Given the description of an element on the screen output the (x, y) to click on. 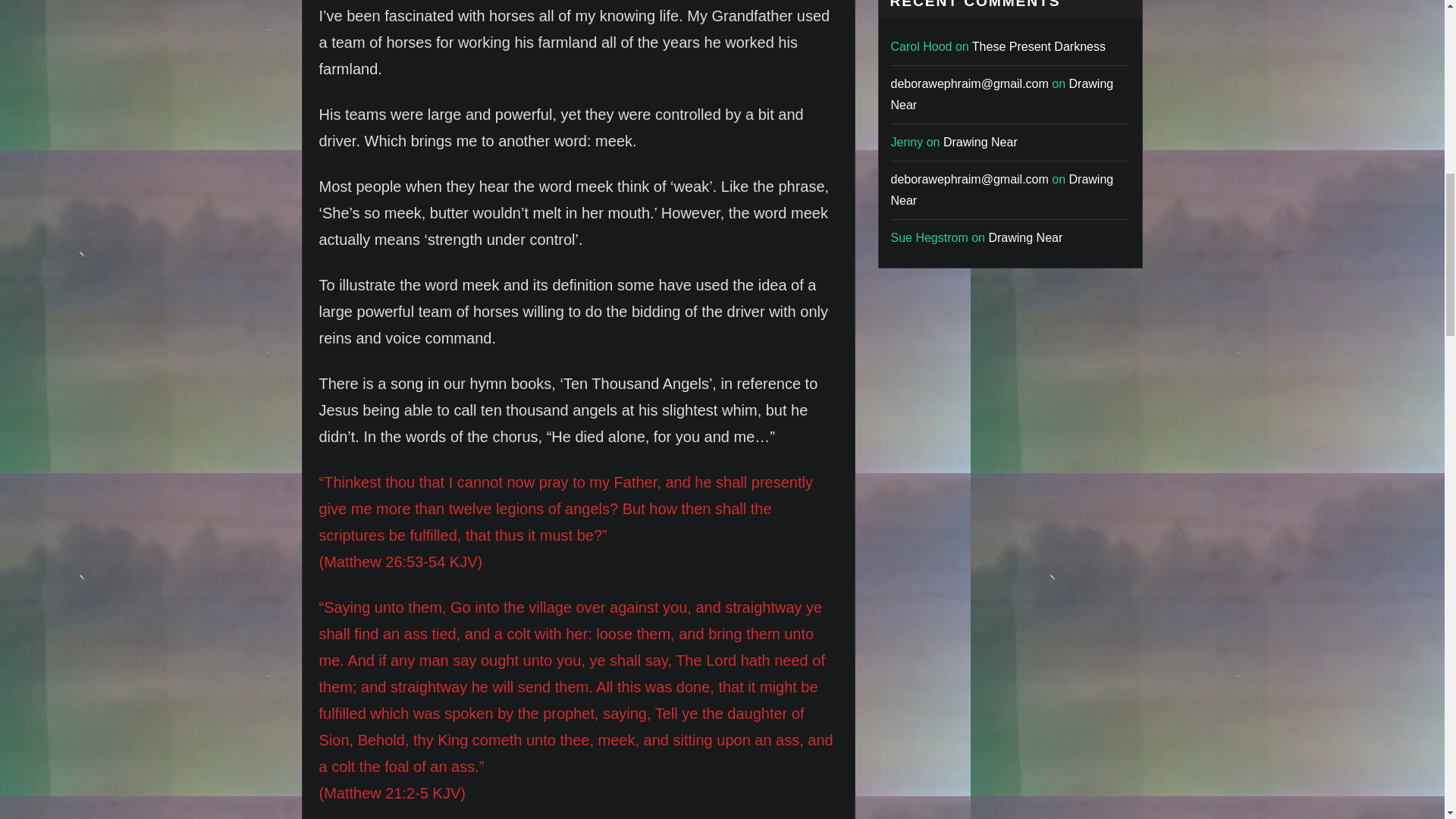
Drawing Near (1025, 237)
Drawing Near (1001, 189)
Drawing Near (1001, 93)
Drawing Near (980, 141)
These Present Darkness (1038, 46)
